Given the description of an element on the screen output the (x, y) to click on. 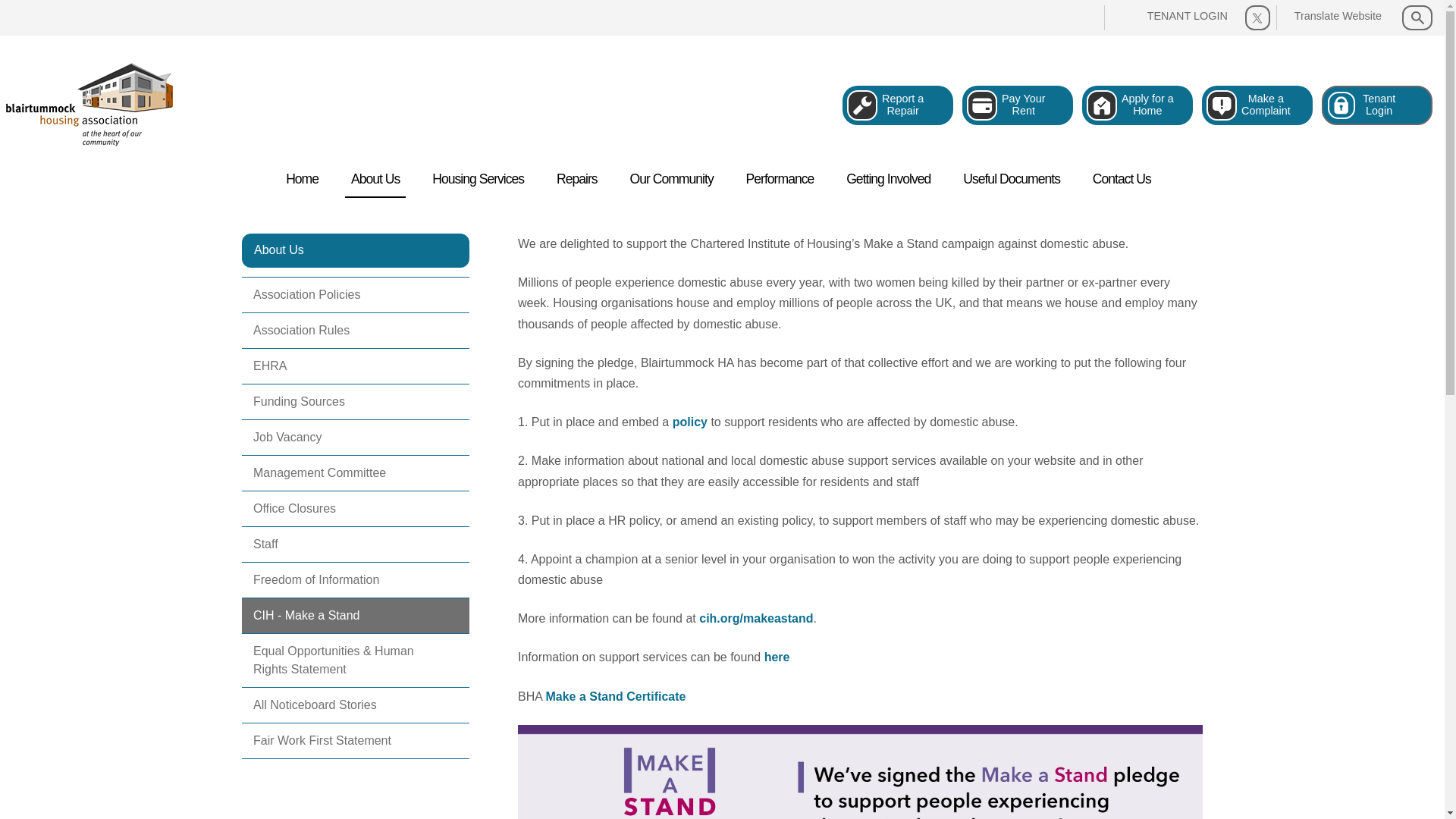
TENANT LOGIN (1174, 17)
Repairs (1257, 105)
About Us (577, 178)
Housing Services (375, 178)
Home (477, 178)
Search (1136, 105)
Translate Website (1377, 105)
